Given the description of an element on the screen output the (x, y) to click on. 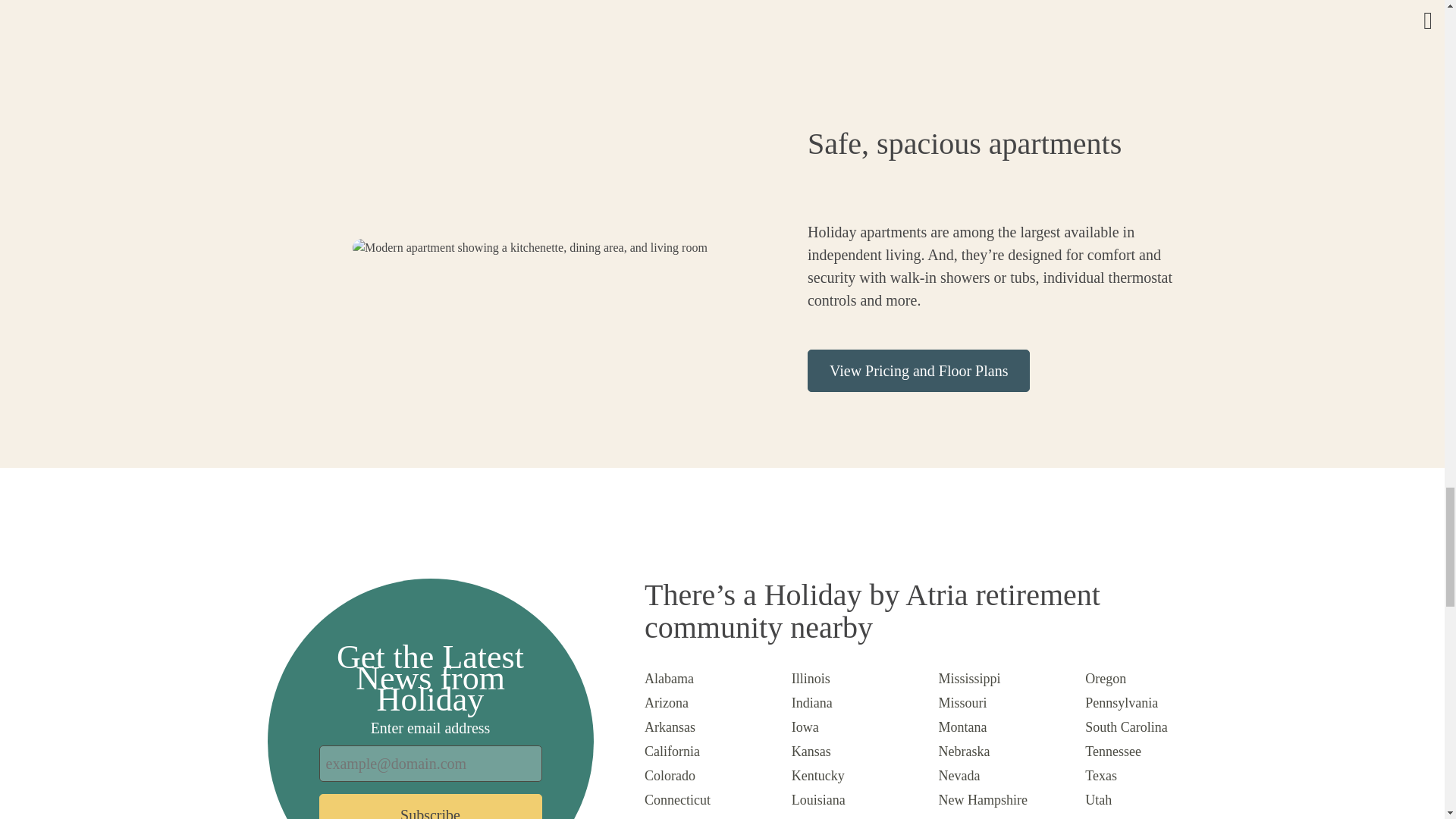
California (672, 751)
Indiana (812, 702)
Florida (664, 817)
Subscribe (429, 806)
Iowa (805, 726)
Kentucky (818, 775)
Illinois (810, 678)
Maine (809, 817)
Arkansas (670, 726)
Arizona (666, 702)
